Given the description of an element on the screen output the (x, y) to click on. 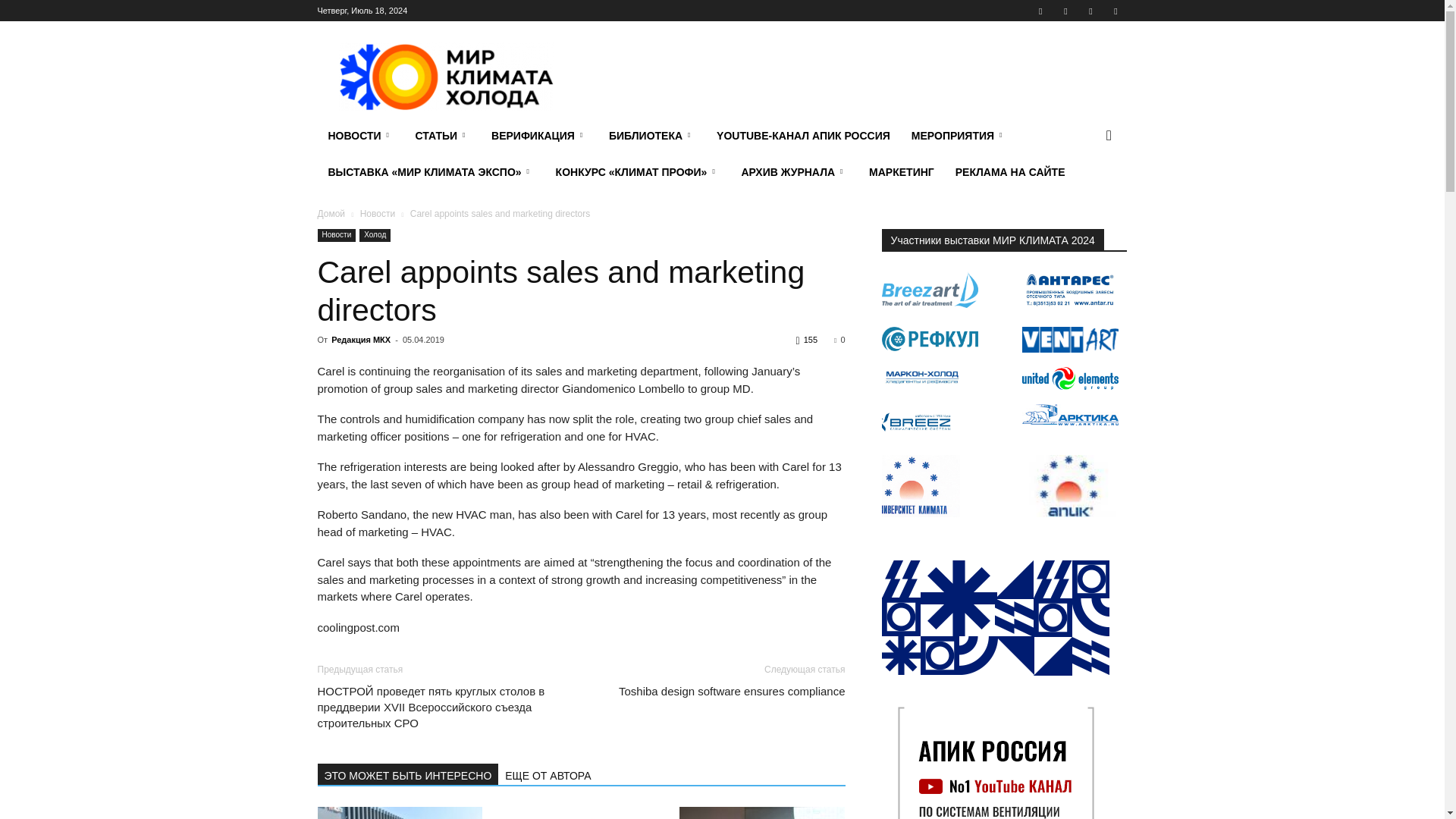
VKontakte (1090, 10)
Telegram (1065, 10)
Youtube (1114, 10)
RSS (1040, 10)
